Given the description of an element on the screen output the (x, y) to click on. 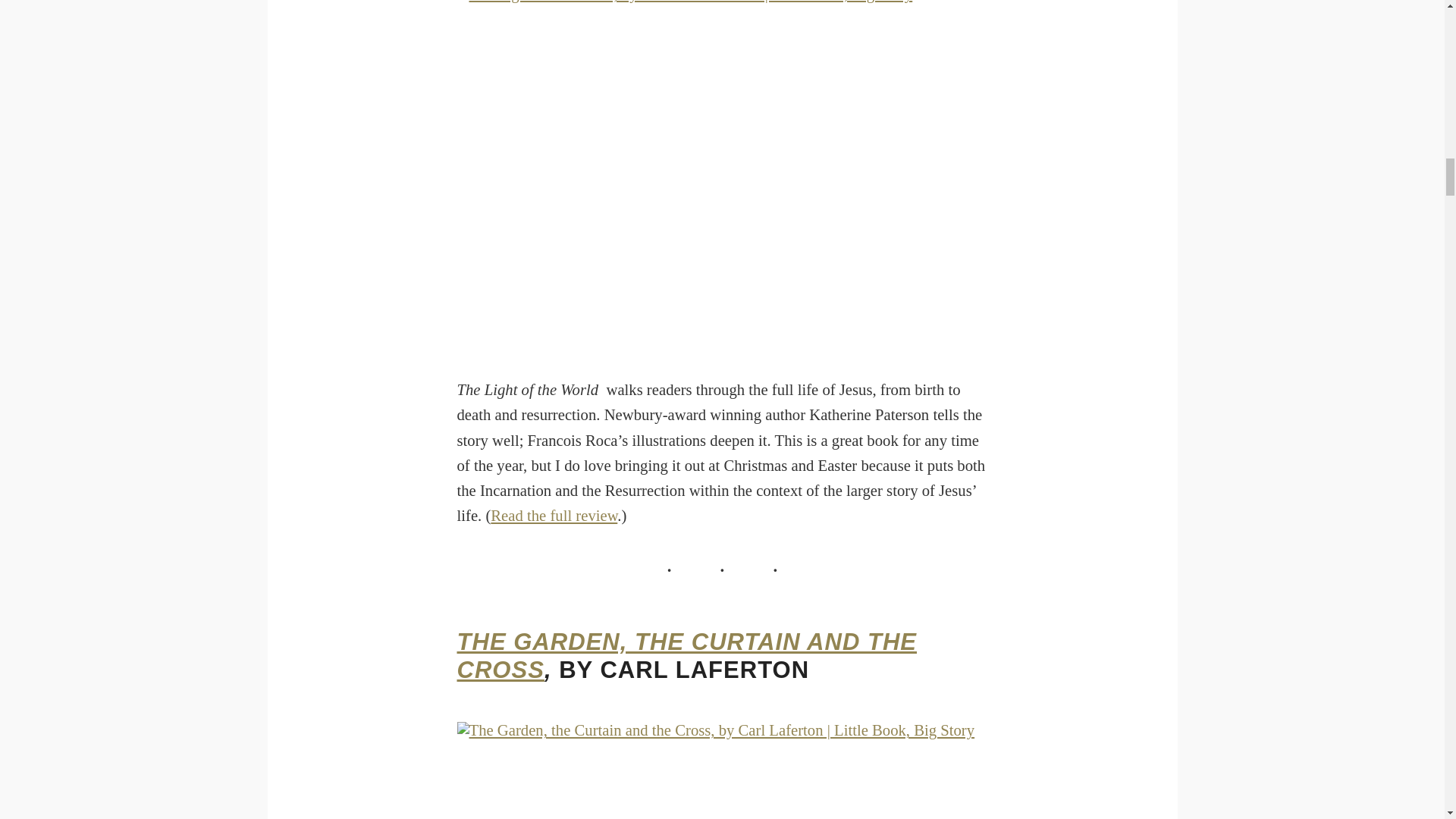
THE GARDEN, THE CURTAIN AND THE CROSS (687, 655)
Read the full review (553, 515)
